Given the description of an element on the screen output the (x, y) to click on. 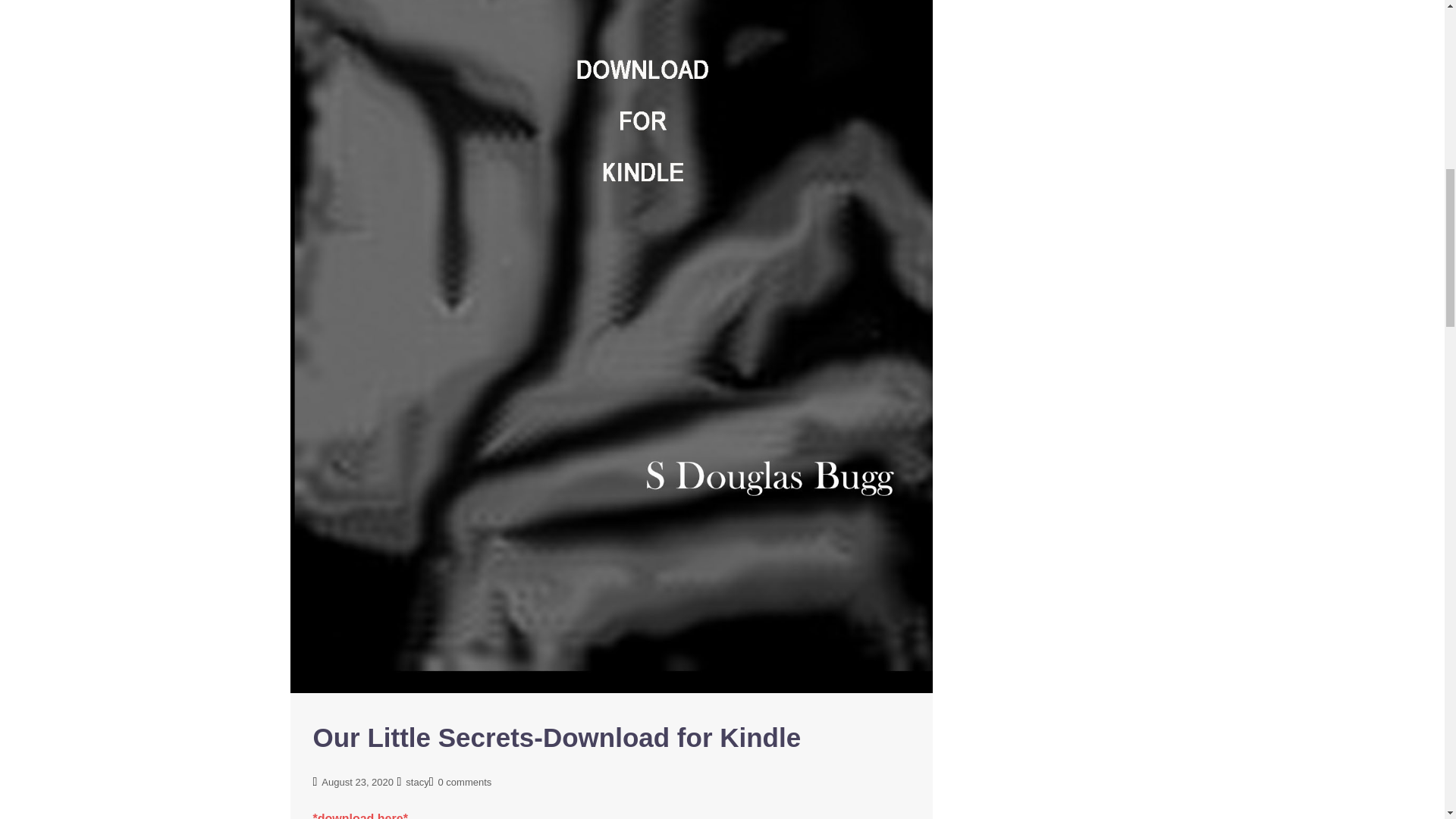
Our Little Secrets-Download for Kindle (556, 737)
0 comments (465, 781)
stacy (417, 781)
August 23, 2020 (357, 781)
Our Little Secrets-Download for Kindle (611, 128)
